Given the description of an element on the screen output the (x, y) to click on. 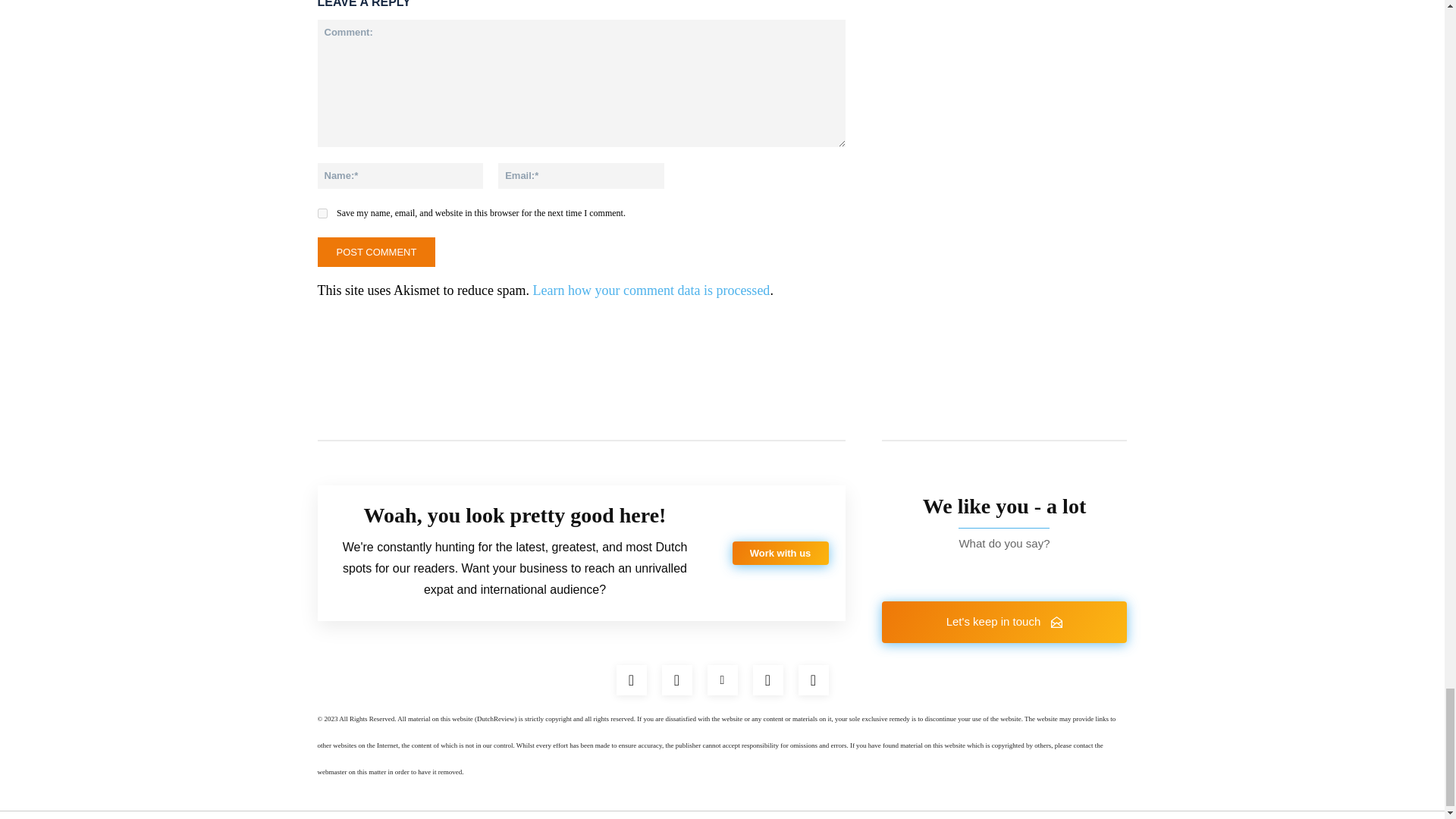
Post Comment (376, 251)
yes (321, 213)
